Given the description of an element on the screen output the (x, y) to click on. 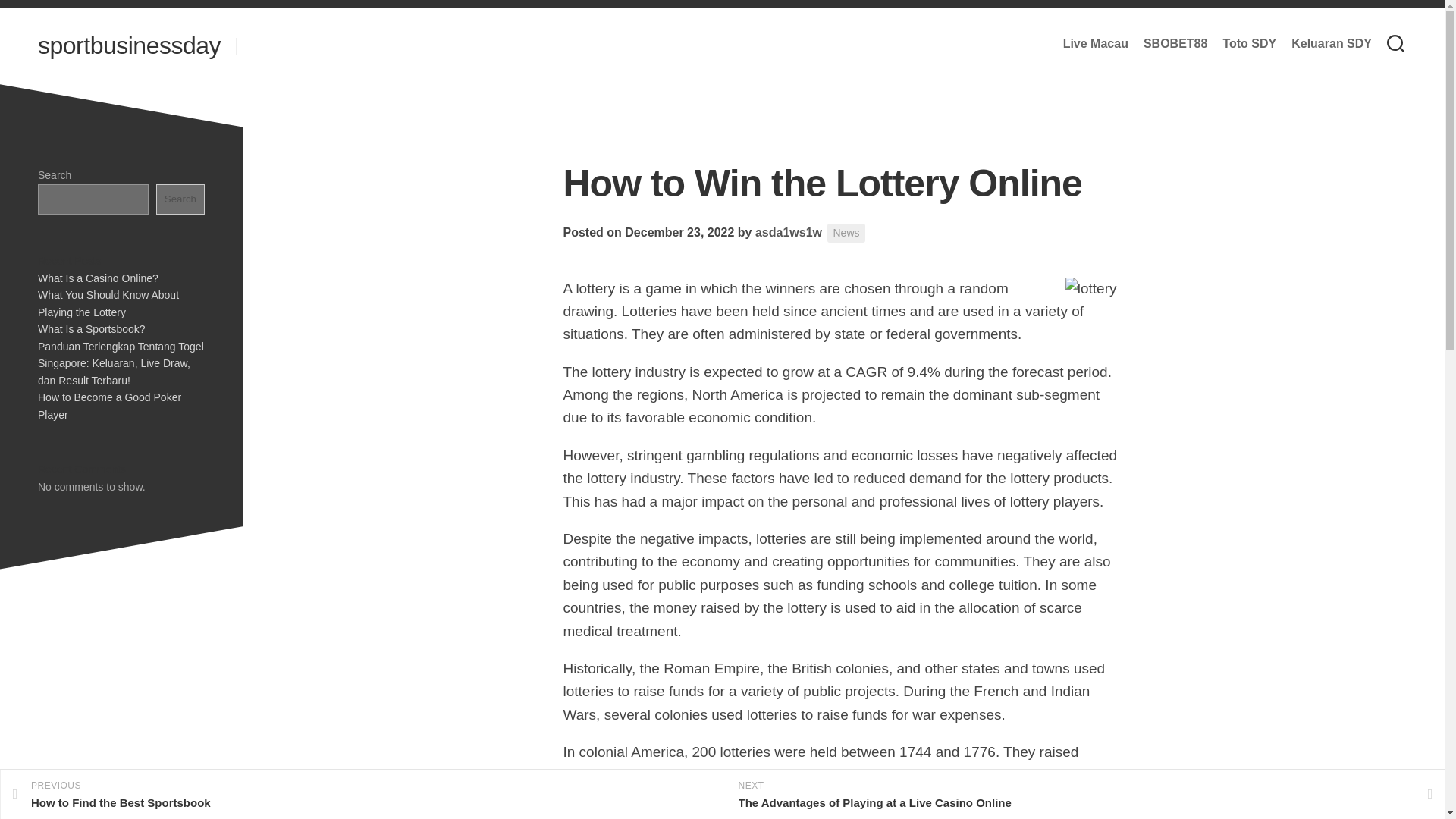
What Is a Casino Online? (97, 277)
How to Become a Good Poker Player (108, 405)
What Is a Sportsbook? (91, 328)
News (845, 232)
Posts by asda1ws1w (788, 232)
sportbusinessday (129, 44)
Live Macau (1095, 43)
SBOBET88 (361, 794)
asda1ws1w (1174, 43)
